Given the description of an element on the screen output the (x, y) to click on. 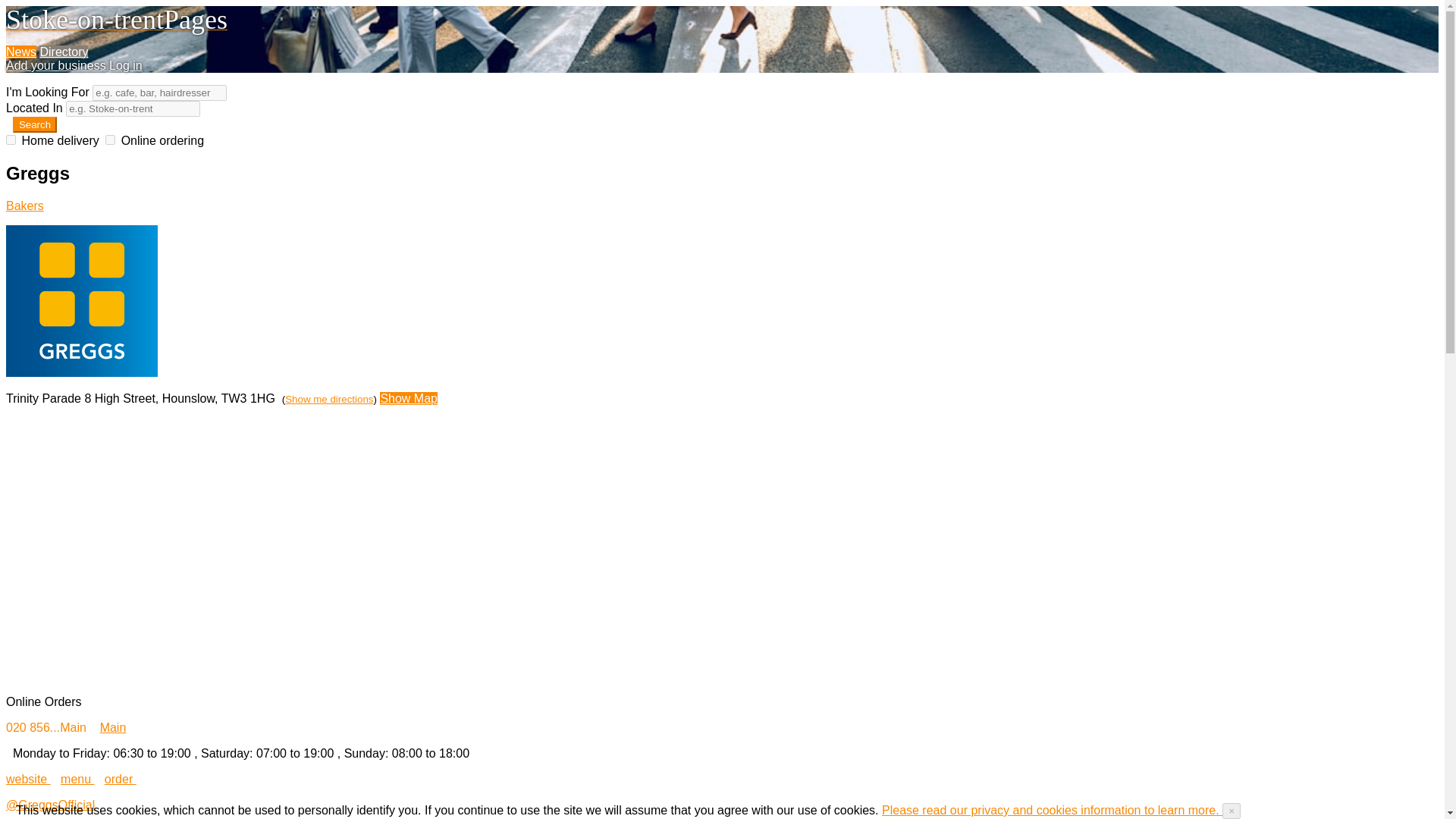
on (109, 139)
order (120, 779)
Bakers (24, 205)
on (10, 139)
Directory (63, 51)
website (27, 779)
Stoke-on-trentPages (116, 24)
click to show number (46, 727)
show me more (24, 205)
Add your business (55, 65)
Log in (125, 65)
Search (34, 124)
Main (113, 727)
Show Map (409, 398)
